Given the description of an element on the screen output the (x, y) to click on. 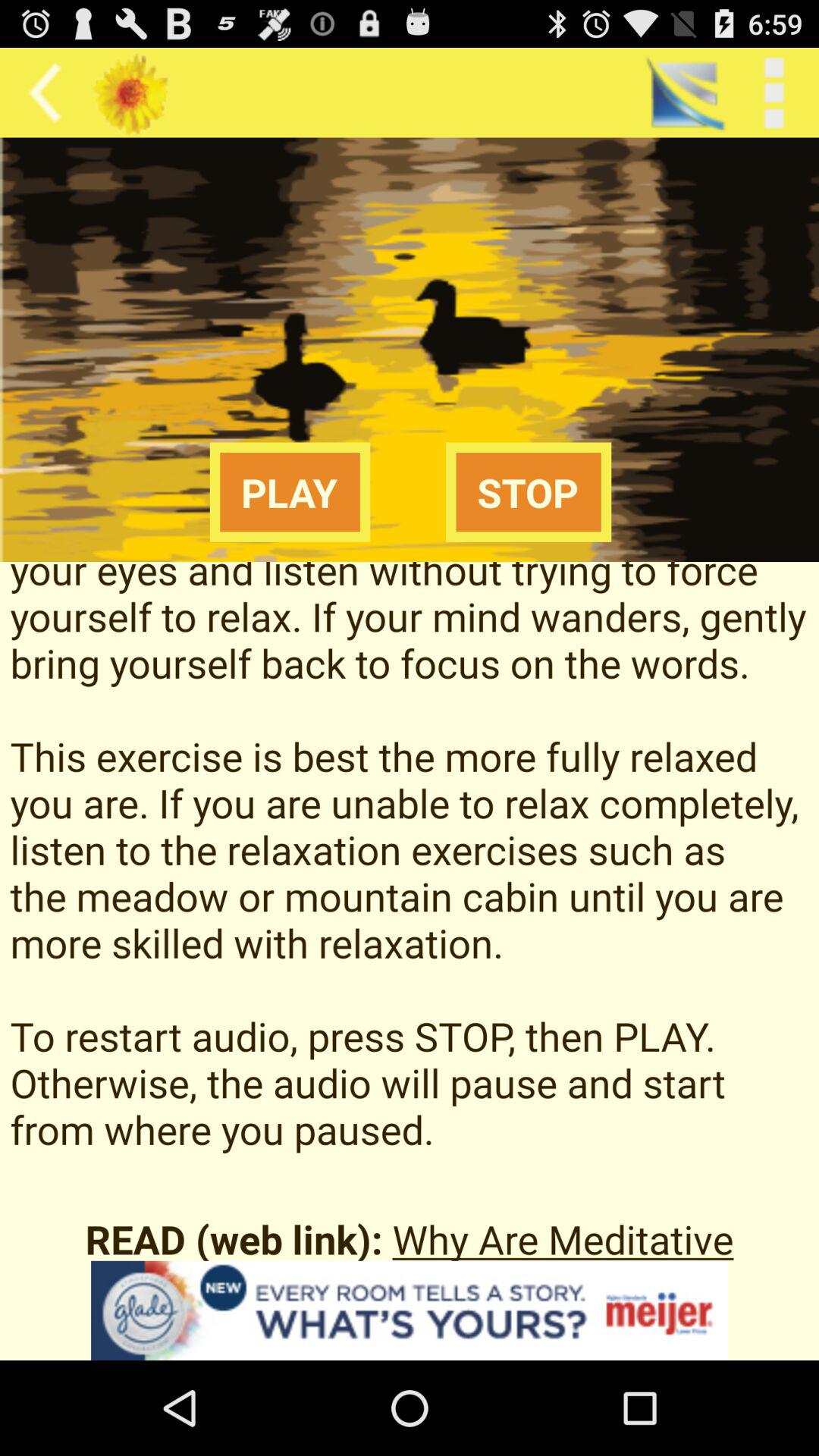
this is an advertisement (409, 1310)
